Given the description of an element on the screen output the (x, y) to click on. 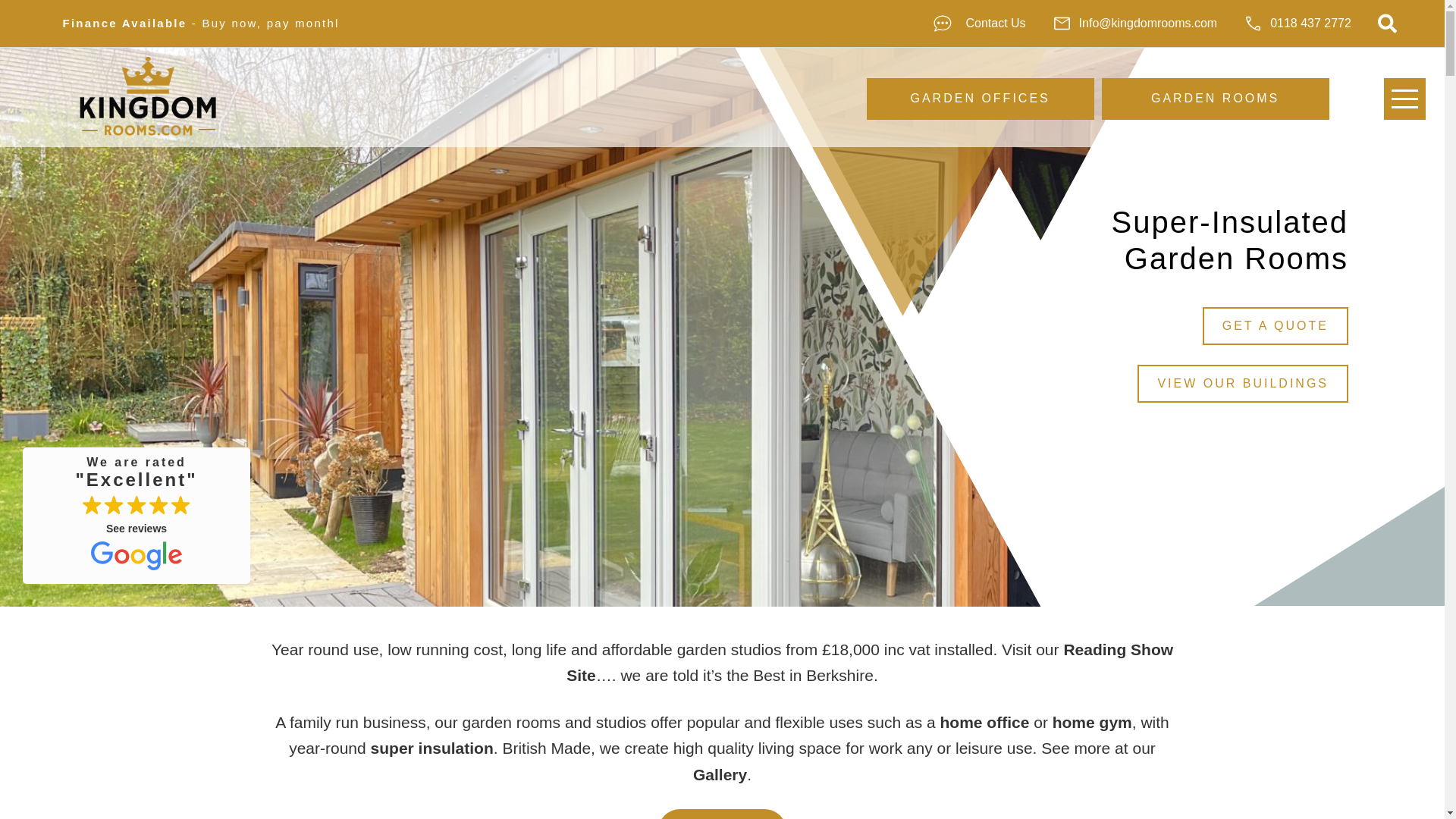
Reading Show Site (869, 661)
home gym (1092, 722)
0118 437 2772 (1300, 22)
CONTACT US (722, 814)
home office (984, 722)
Contact Us (136, 513)
Kingdom Rooms (979, 22)
VIEW OUR BUILDINGS (147, 95)
Finance Available - Buy now, pay monthly (1242, 383)
GET A QUOTE (331, 22)
super insulation (1275, 325)
GARDEN ROOMS (432, 747)
Gallery (1215, 98)
GARDEN OFFICES (719, 773)
